Given the description of an element on the screen output the (x, y) to click on. 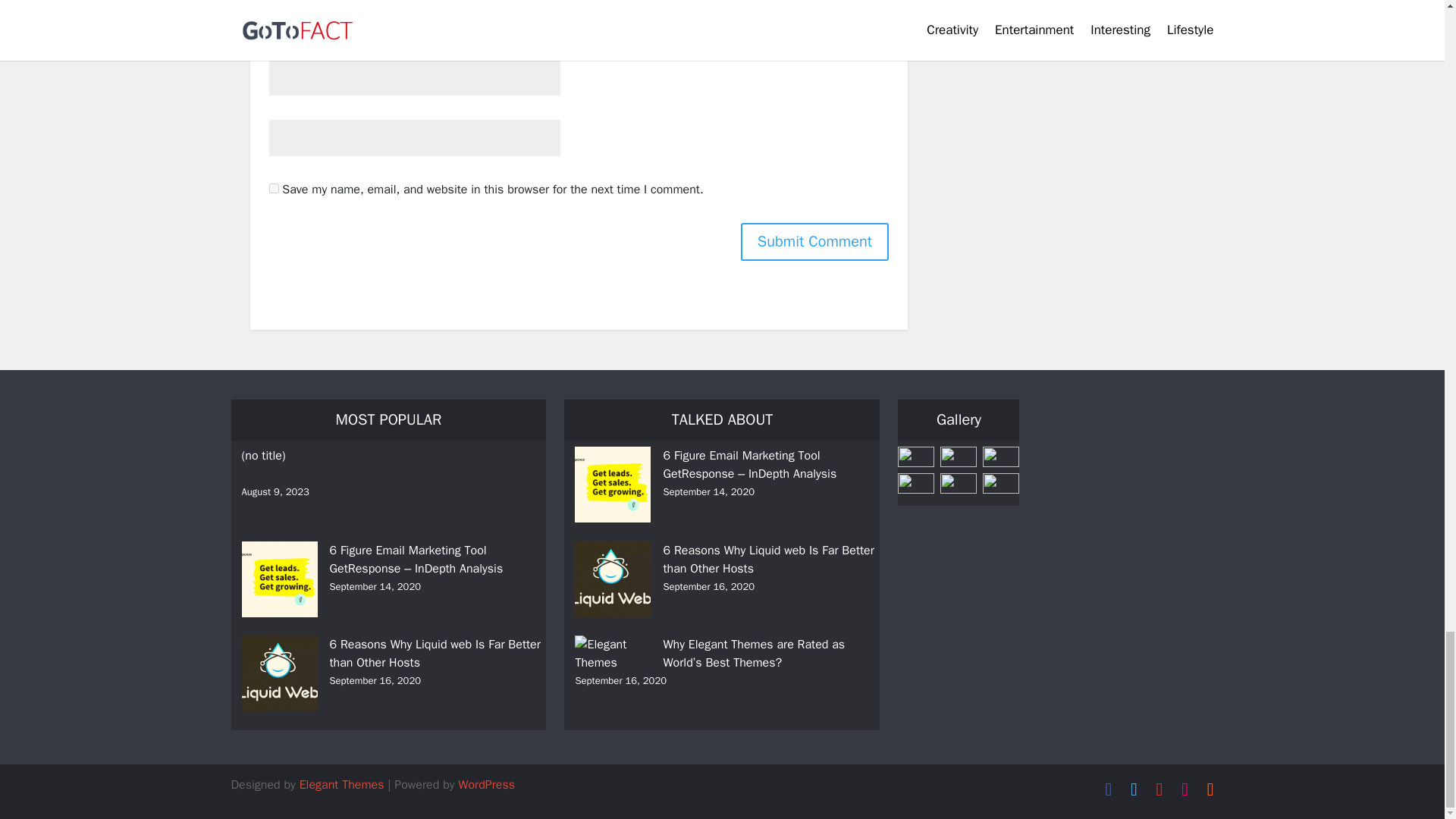
Premium WordPress Themes (341, 784)
6 Reasons Why Liquid web Is Far Better than Other Hosts (437, 654)
Submit Comment (814, 241)
6 Reasons Why Liquid web Is Far Better than Other Hosts (770, 560)
yes (272, 188)
Submit Comment (814, 241)
